Given the description of an element on the screen output the (x, y) to click on. 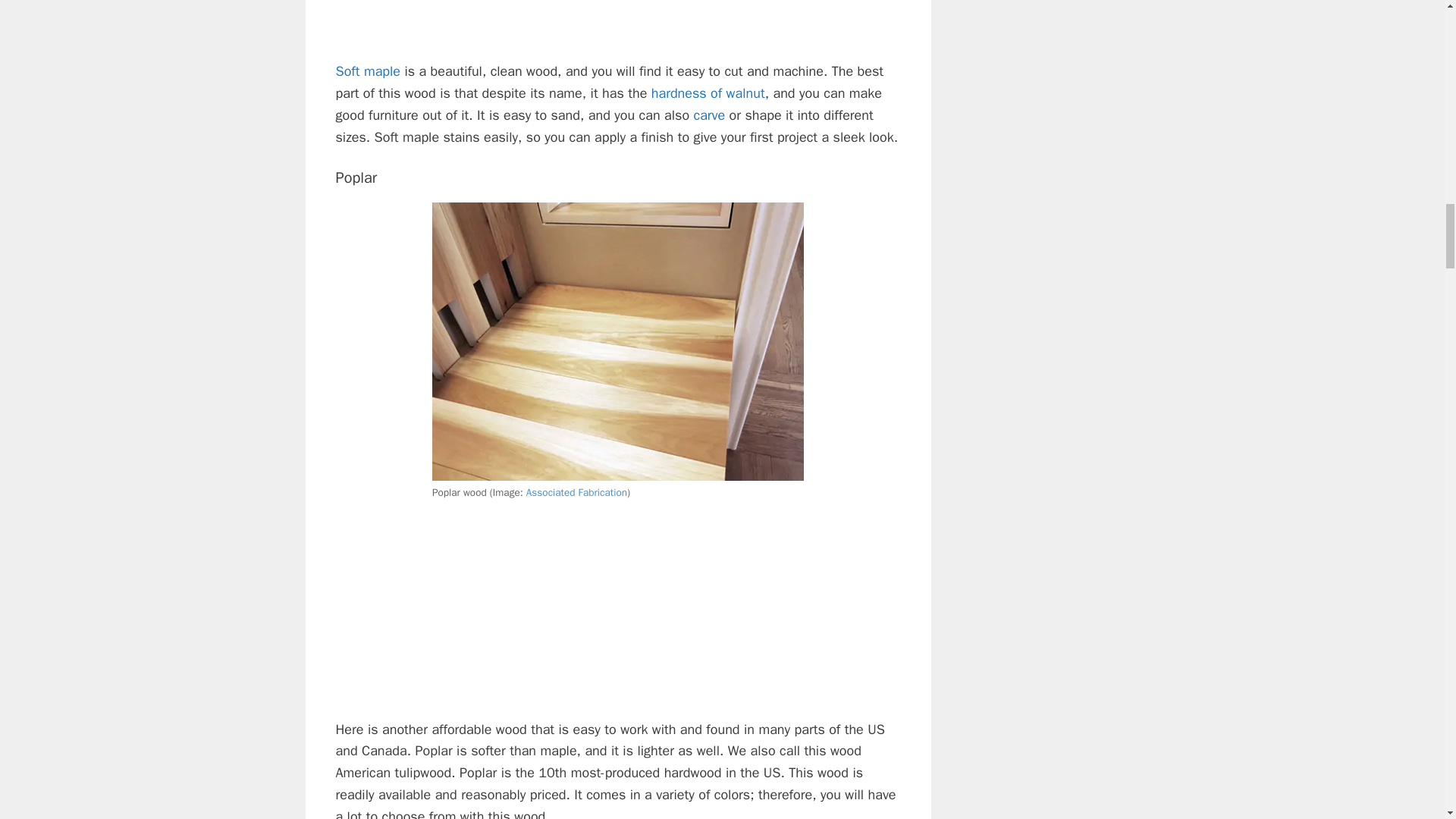
Associated Fabrication (576, 492)
hardness of walnut (707, 93)
Soft maple (367, 71)
carve (709, 115)
